Given the description of an element on the screen output the (x, y) to click on. 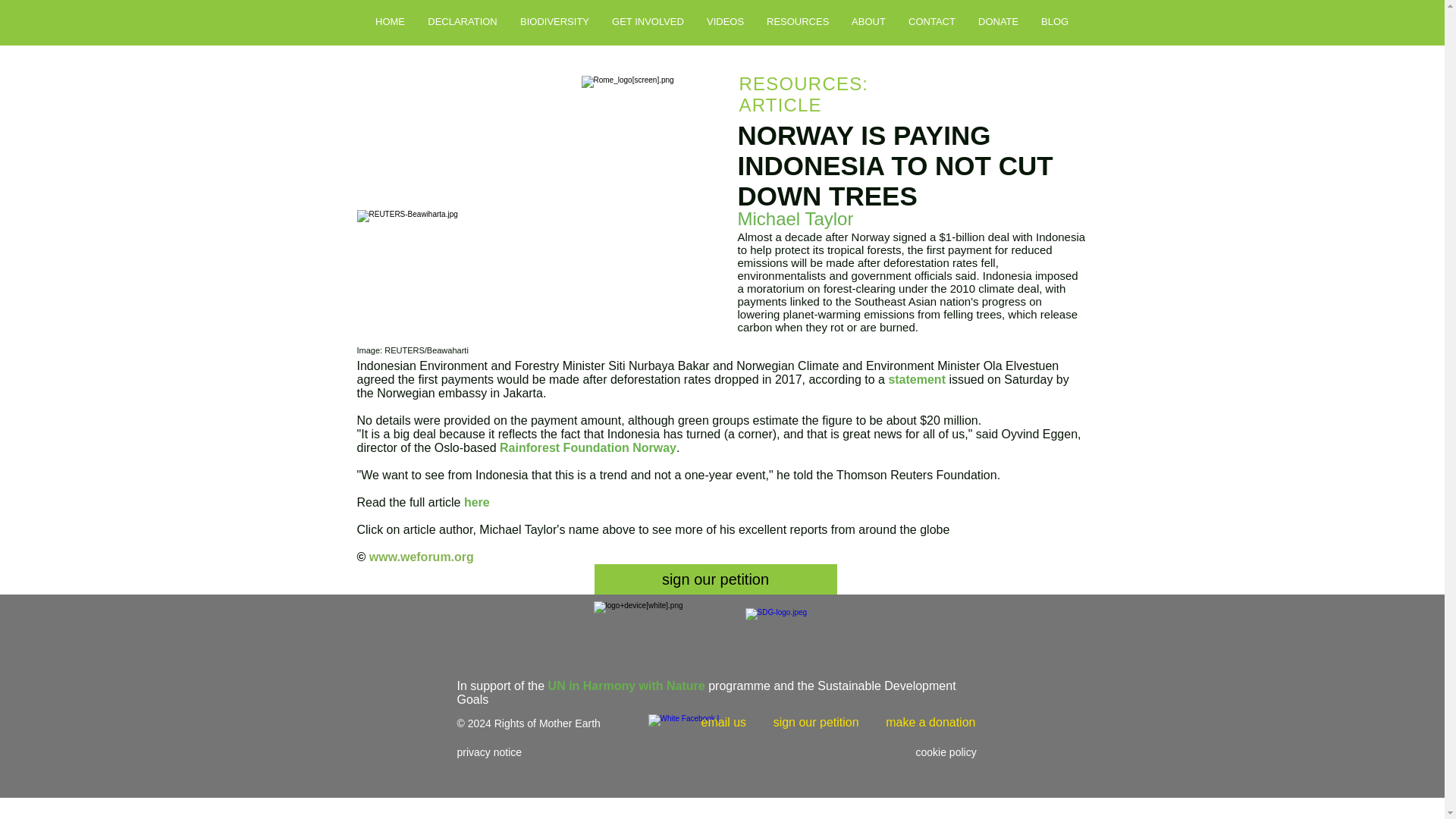
DONATE (997, 21)
UN in Harmony with Nature (626, 685)
sign our petition (715, 579)
VIDEOS (725, 21)
Rainforest Foundation Norway (588, 447)
BIODIVERSITY (553, 21)
Michael Taylor (794, 218)
BLOG (1054, 21)
statement  (918, 379)
here (476, 502)
